Given the description of an element on the screen output the (x, y) to click on. 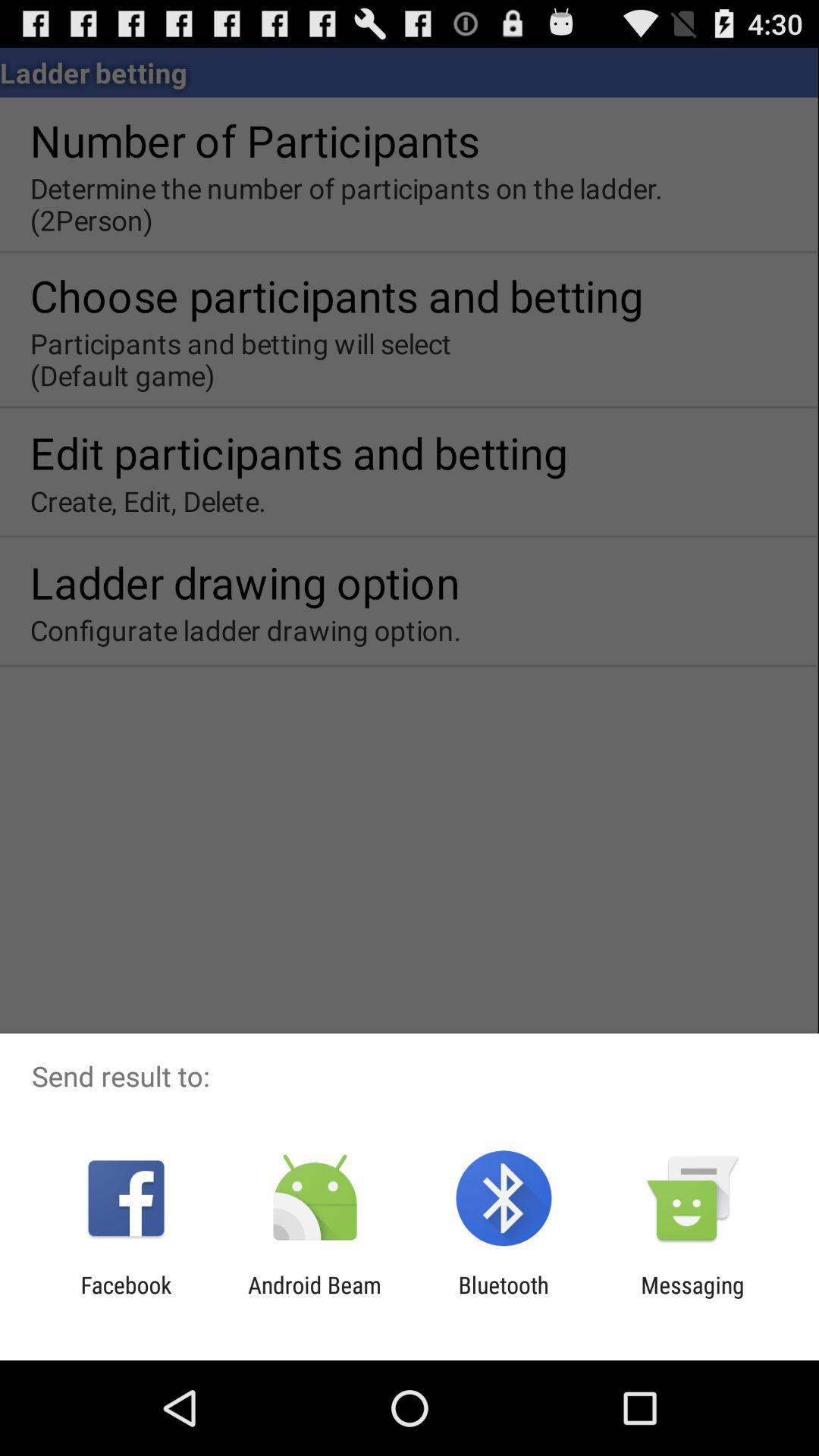
turn on icon to the right of android beam item (503, 1298)
